Given the description of an element on the screen output the (x, y) to click on. 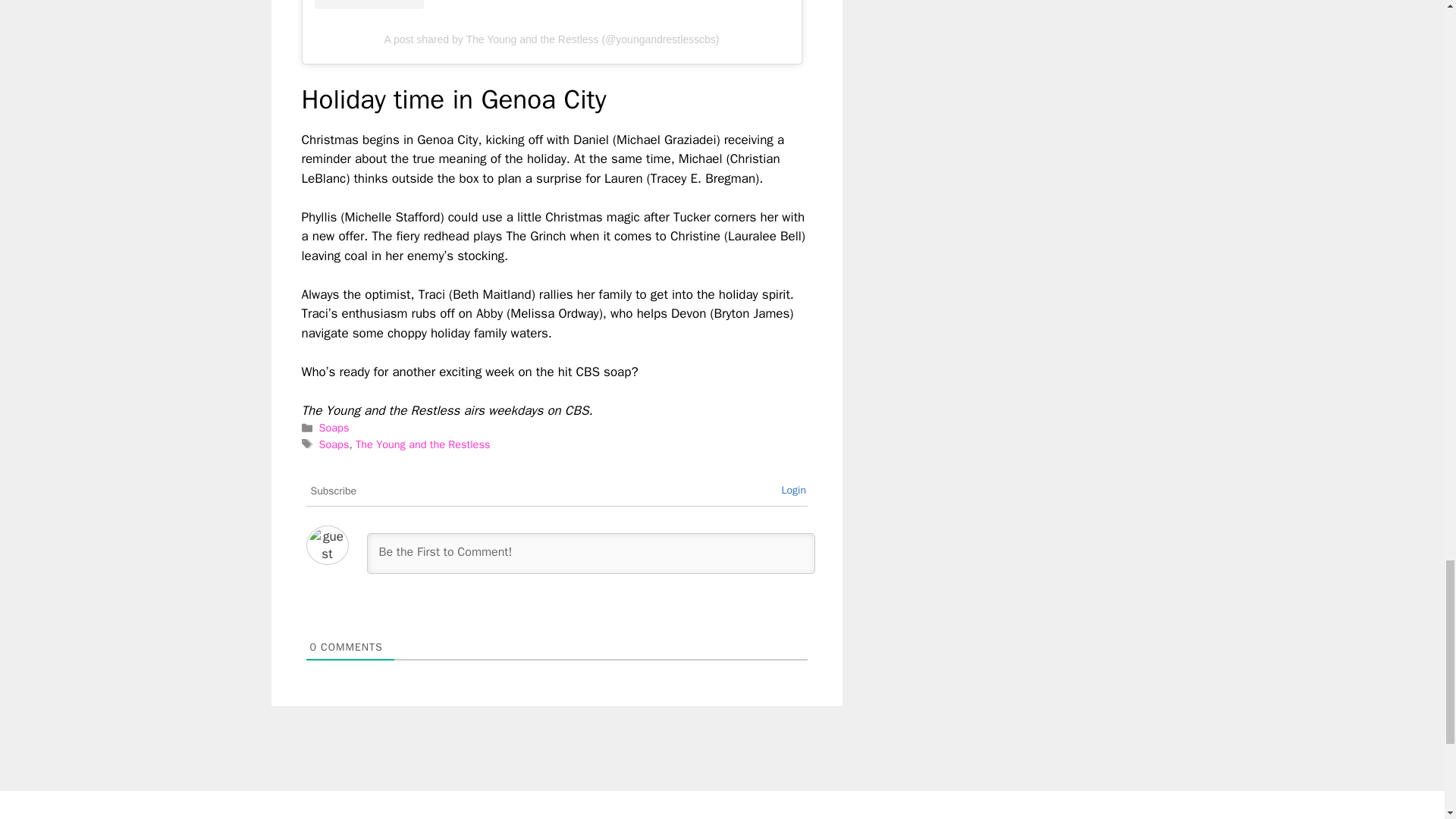
Soaps (333, 427)
The Young and the Restless (422, 444)
Login (793, 490)
View this post on Instagram (551, 4)
Soaps (333, 444)
